Given the description of an element on the screen output the (x, y) to click on. 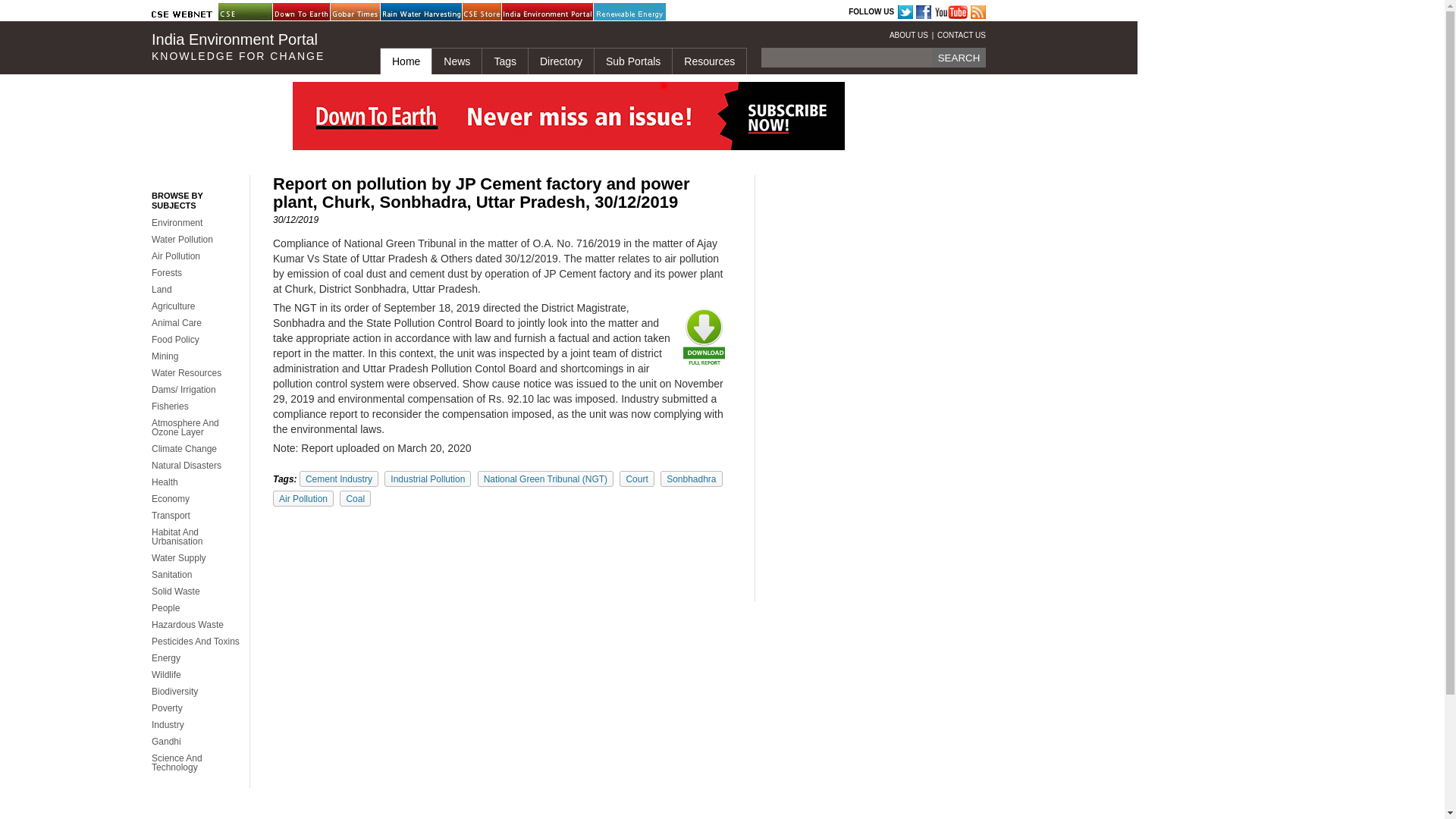
Home (405, 60)
Down to Earth (311, 11)
India Environment Portal (540, 11)
Rain Water Harvesting (418, 11)
Tags (504, 60)
CSE (256, 11)
Directory (560, 60)
Renewable Energy (631, 11)
News (455, 60)
Sub Portals (632, 60)
